Given the description of an element on the screen output the (x, y) to click on. 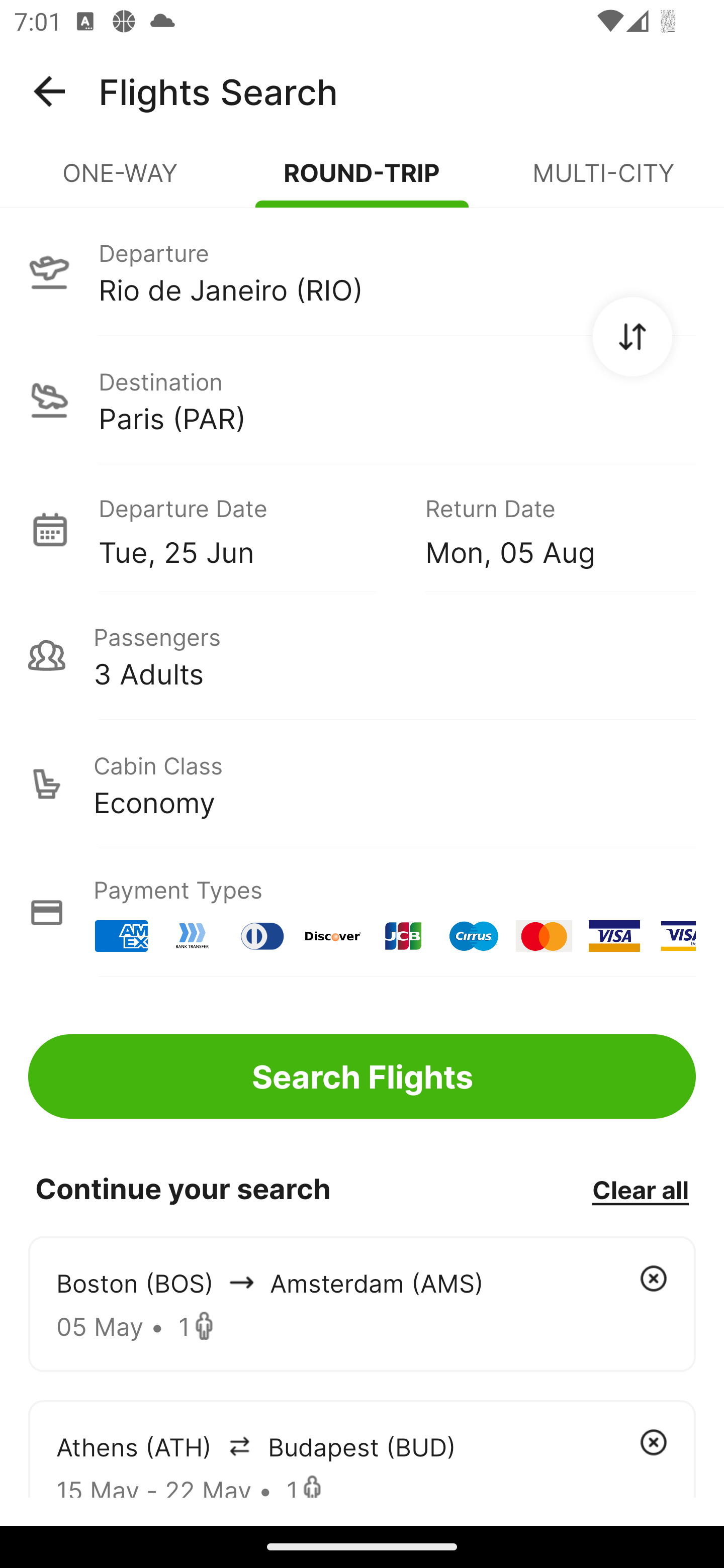
ONE-WAY (120, 180)
ROUND-TRIP (361, 180)
MULTI-CITY (603, 180)
Departure Rio de Janeiro (RIO) (362, 270)
Destination Paris (PAR) (362, 400)
Departure Date Tue, 25 Jun (247, 528)
Return Date Mon, 05 Aug (546, 528)
Passengers 3 Adults (362, 655)
Cabin Class Economy (362, 783)
Payment Types (362, 912)
Search Flights (361, 1075)
Clear all (640, 1189)
